Given the description of an element on the screen output the (x, y) to click on. 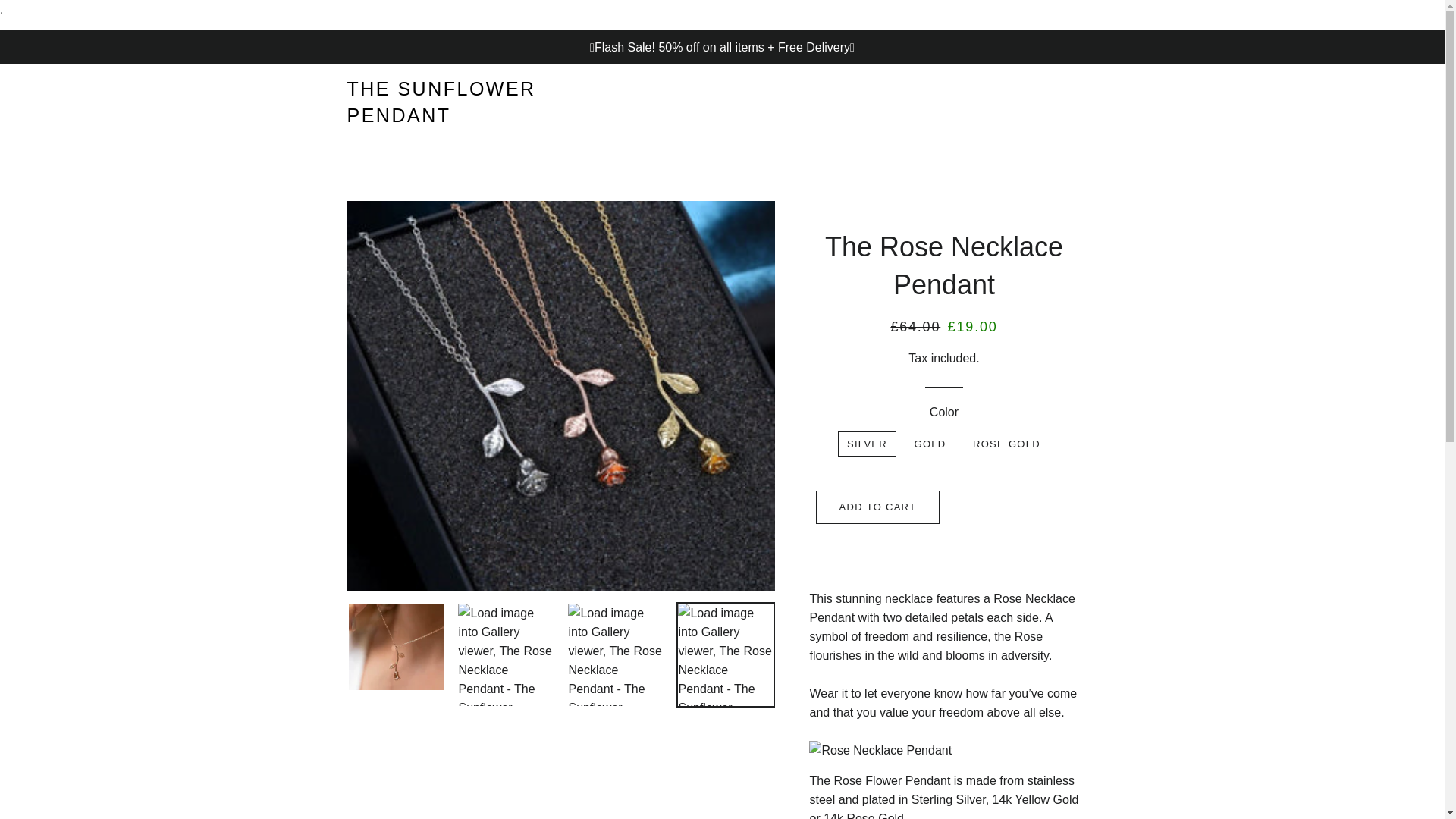
THE SUNFLOWER PENDANT (471, 102)
ADD TO CART (877, 507)
